Given the description of an element on the screen output the (x, y) to click on. 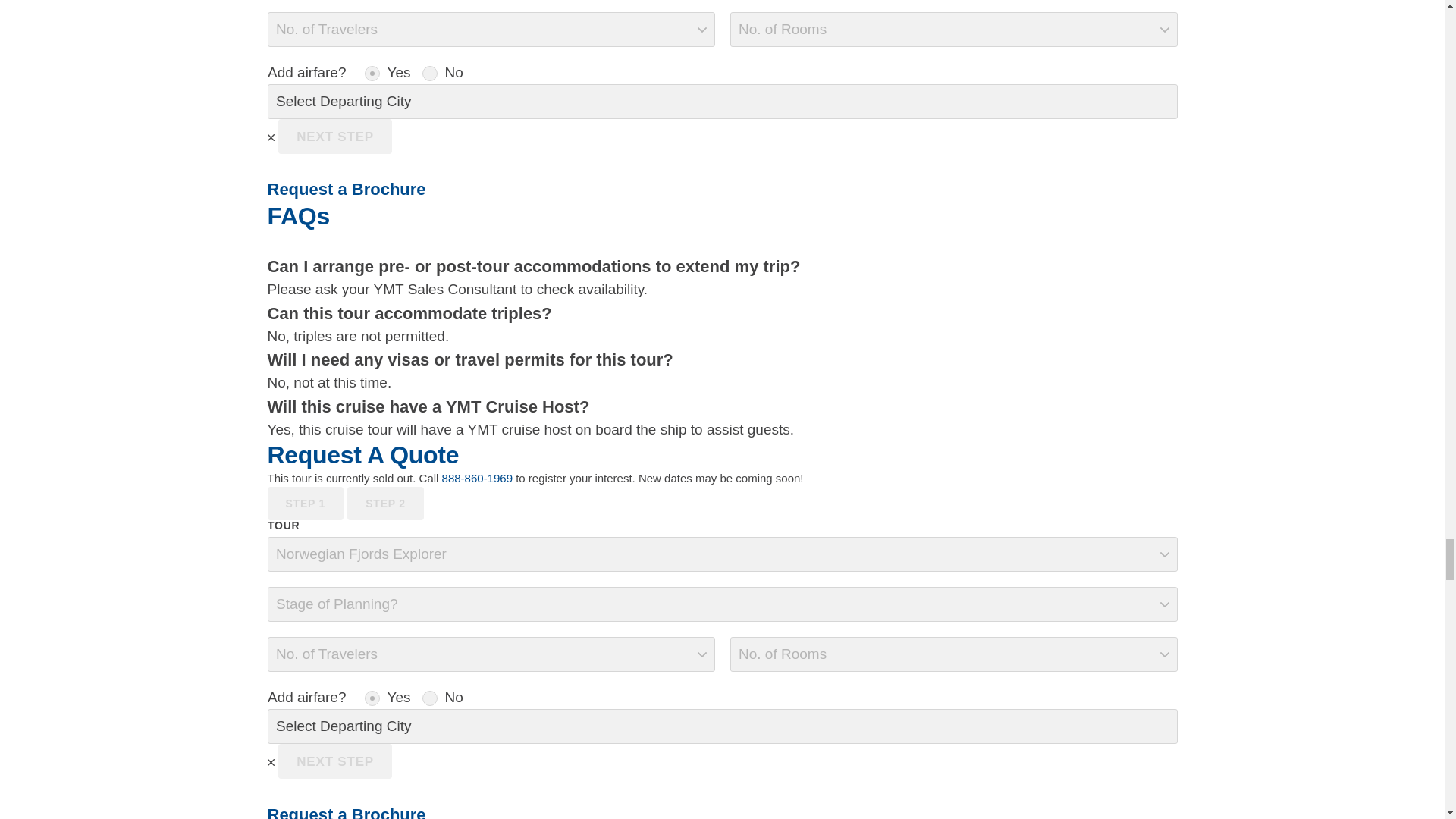
No (429, 698)
Yes (371, 698)
No (429, 73)
Yes (371, 73)
